Given the description of an element on the screen output the (x, y) to click on. 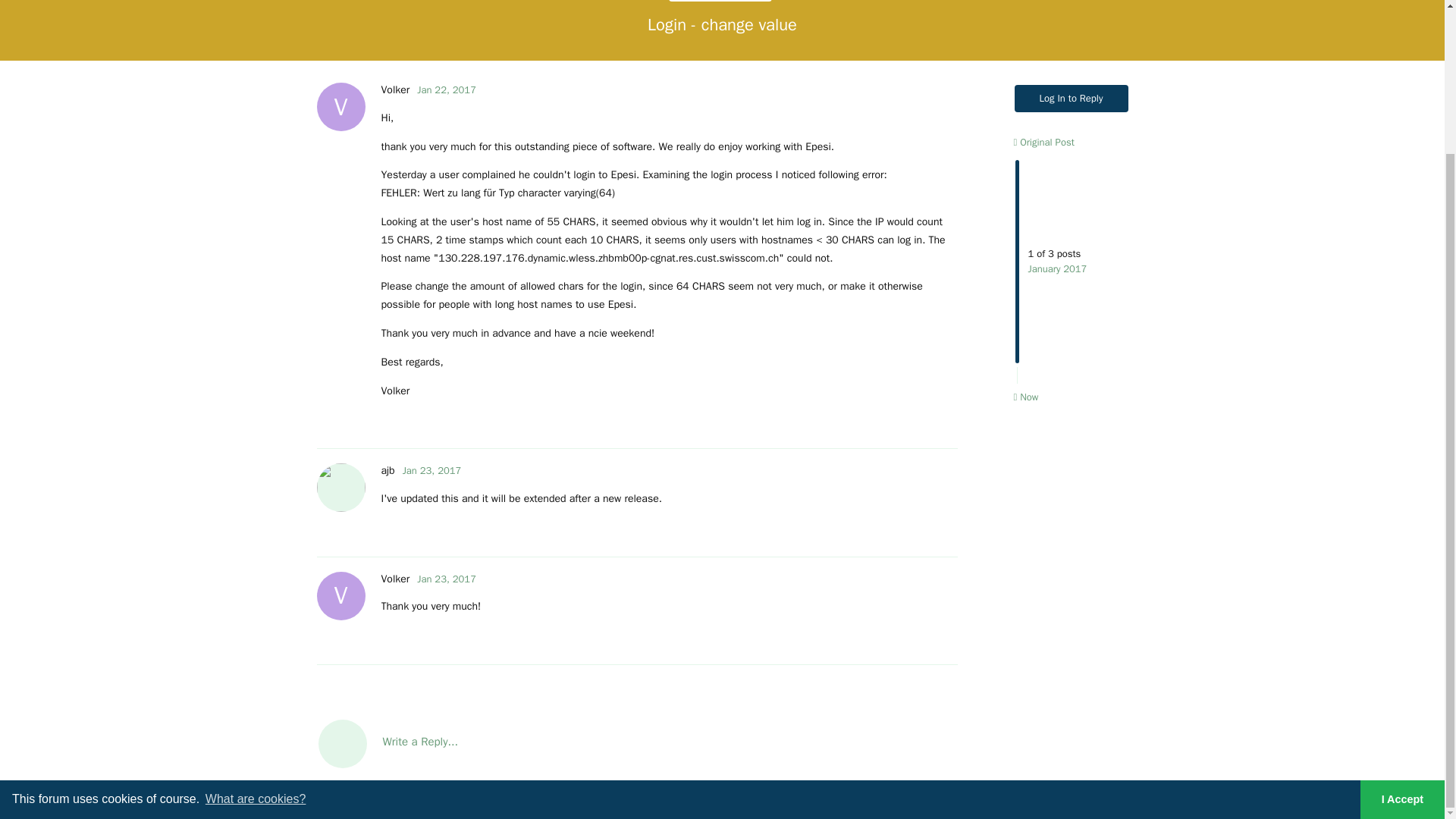
What are cookies? (255, 620)
Jan 23, 2017 (432, 470)
Monday, January 23, 2017 9:33 PM (446, 578)
Monday, January 23, 2017 4:21 PM (432, 470)
Original Post (394, 89)
Jan 23, 2017 (394, 578)
ajb (1043, 141)
Log In to Reply (446, 578)
